Given the description of an element on the screen output the (x, y) to click on. 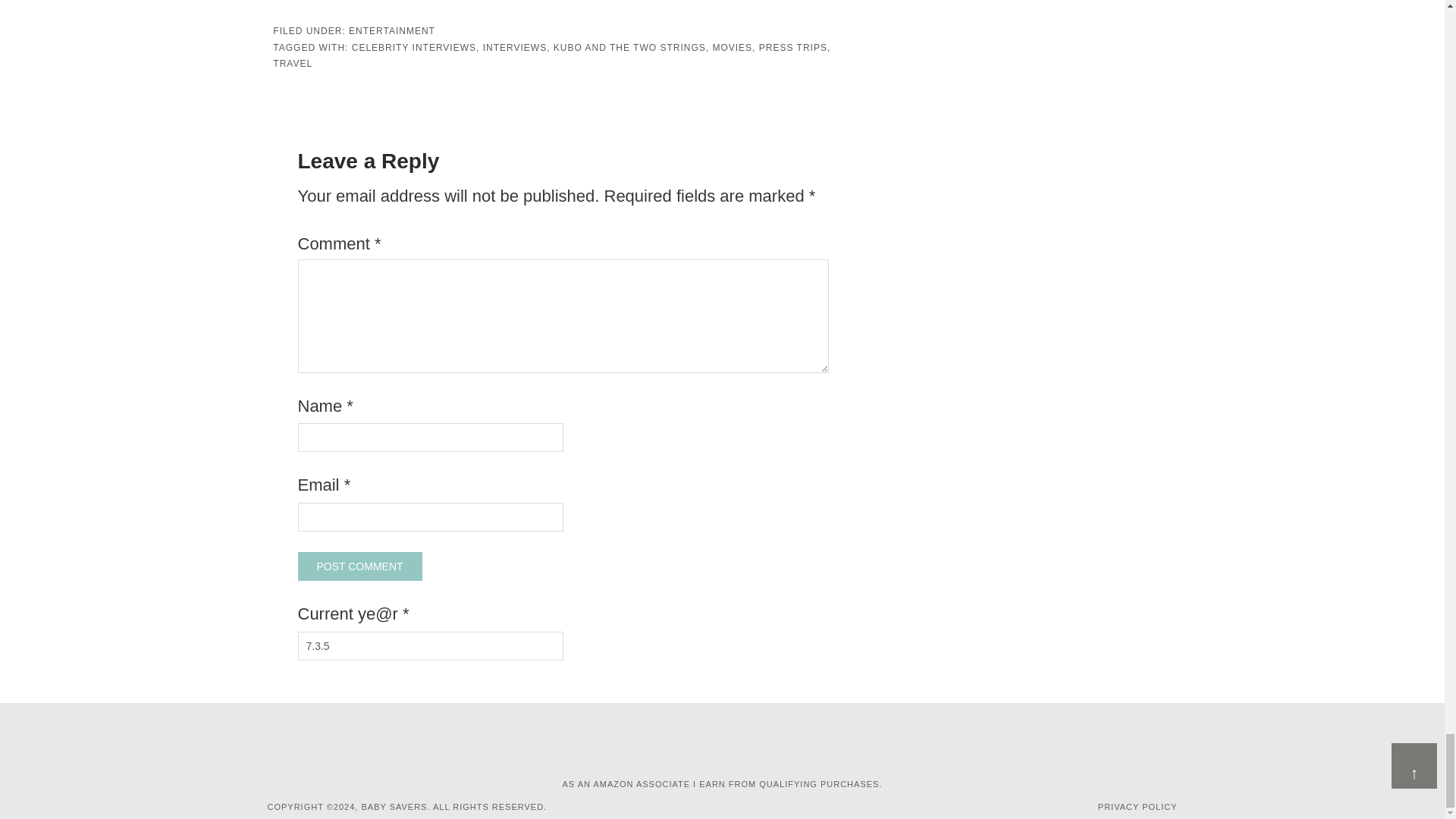
7.3.5 (429, 645)
Post Comment (359, 566)
